Given the description of an element on the screen output the (x, y) to click on. 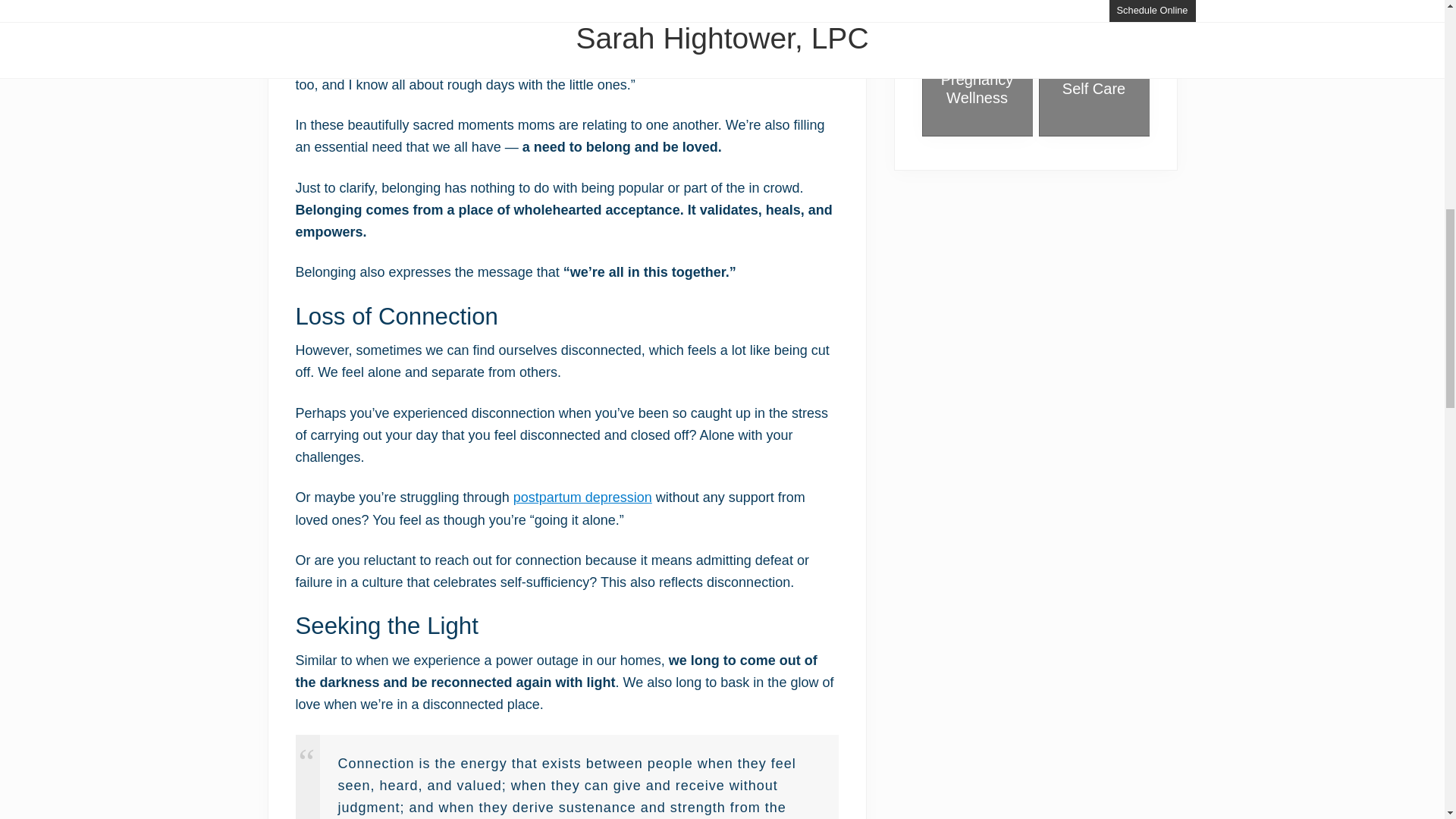
Postpartum Wellness (975, 6)
Self Care (1093, 88)
Pregnancy Loss (1094, 6)
Pregnancy Wellness (976, 88)
postpartum depression (582, 497)
Am I Depressed? (582, 497)
